Given the description of an element on the screen output the (x, y) to click on. 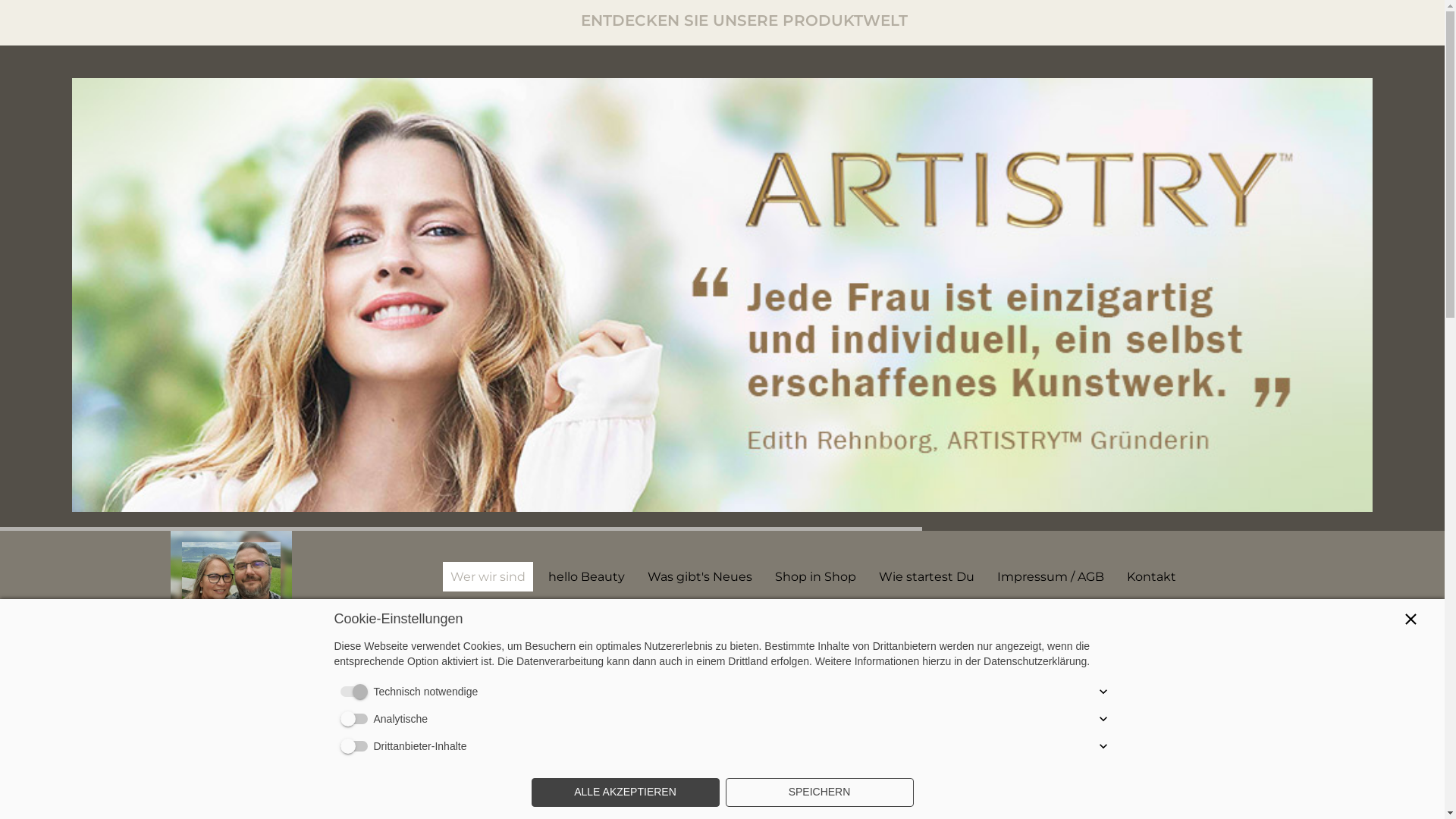
SPEICHERN Element type: text (818, 792)
Impressum / AGB Element type: text (1050, 575)
Wie startest Du Element type: text (926, 575)
Kontakt Element type: text (1151, 575)
hello Beauty Element type: text (586, 575)
Was gibt's Neues Element type: text (699, 575)
Wer wir sind Element type: text (487, 575)
Shop in Shop Element type: text (815, 575)
ALLE AKZEPTIEREN Element type: text (624, 792)
